Given the description of an element on the screen output the (x, y) to click on. 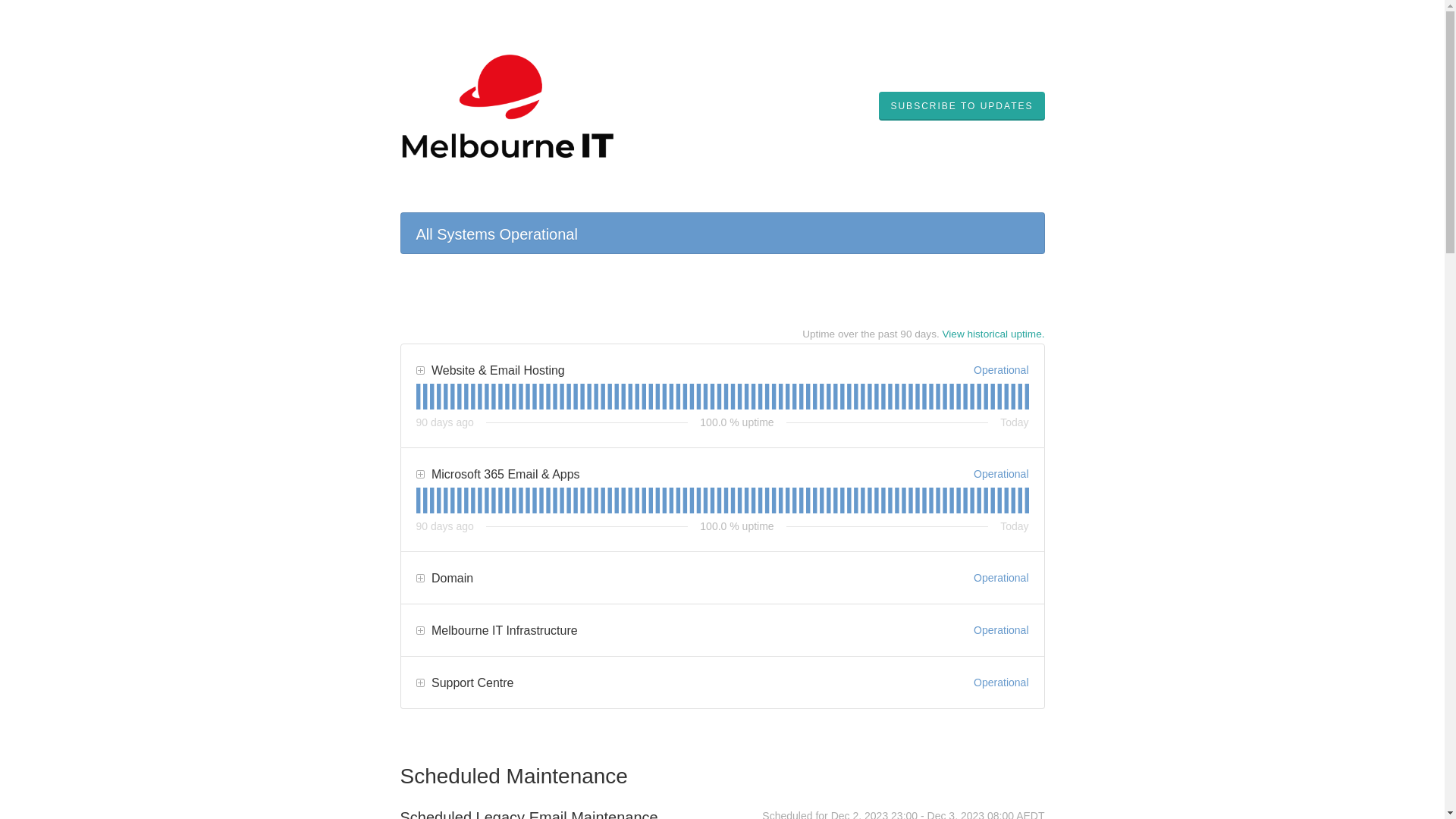
View historical uptime. Element type: text (992, 333)
